Given the description of an element on the screen output the (x, y) to click on. 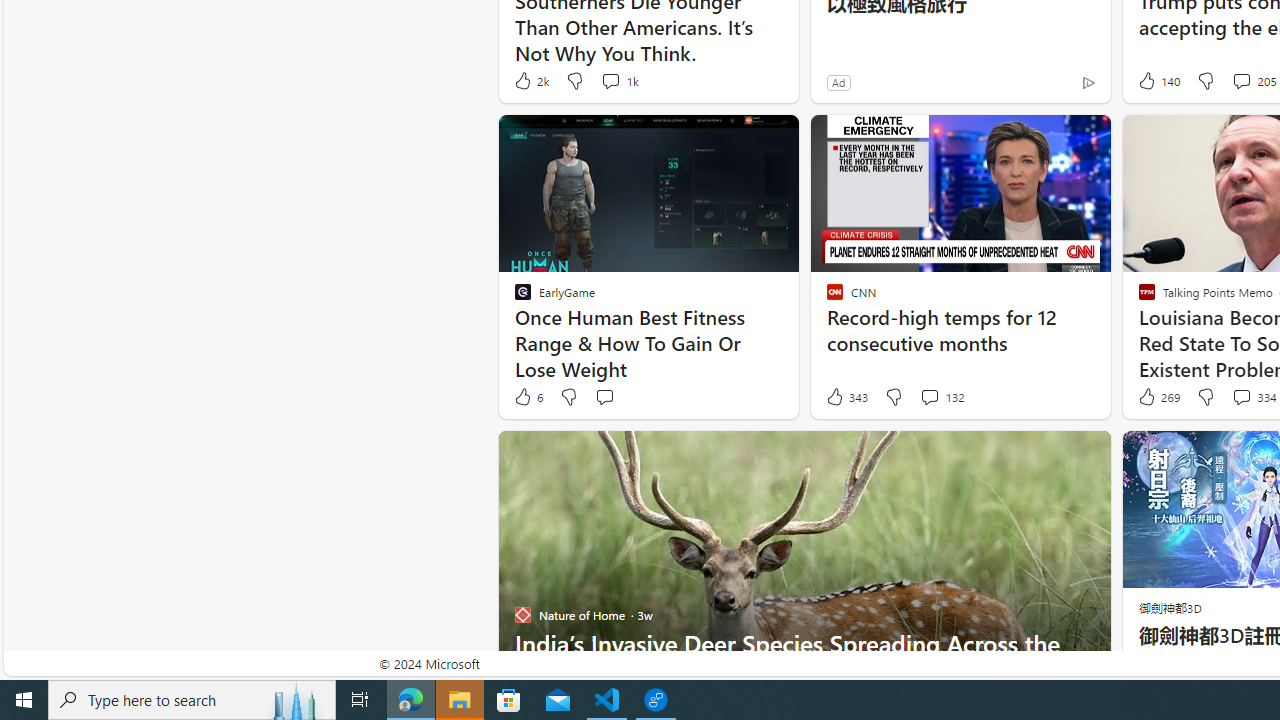
Ad (838, 82)
View comments 205 Comment (1241, 80)
6 Like (527, 397)
Hide this story (1050, 454)
343 Like (845, 397)
2k Like (530, 80)
View comments 1k Comment (618, 80)
Dislike (1204, 397)
Start the conversation (604, 397)
269 Like (1157, 397)
140 Like (1157, 80)
See more (1086, 454)
View comments 132 Comment (941, 397)
View comments 1k Comment (610, 80)
